Given the description of an element on the screen output the (x, y) to click on. 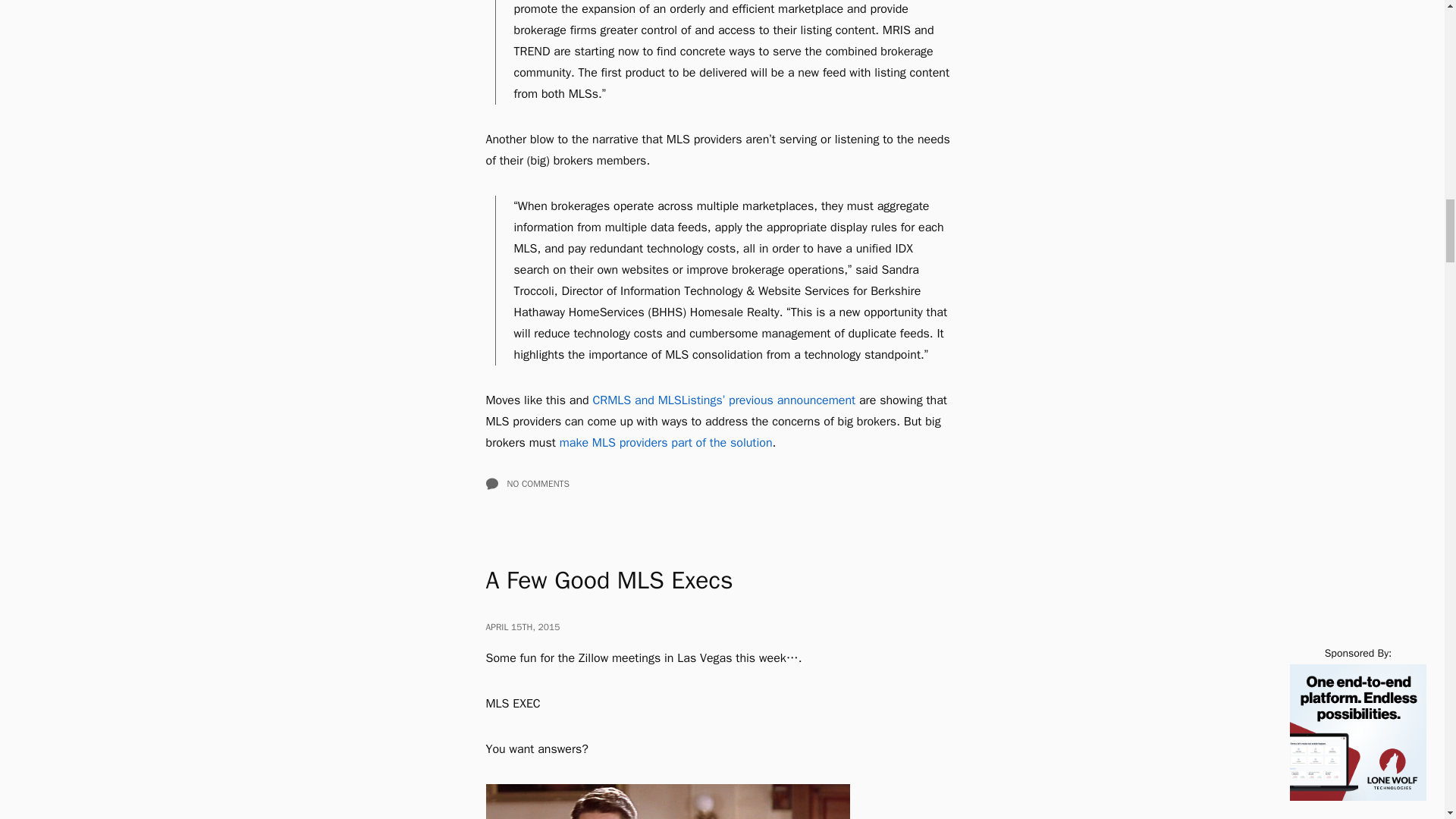
make MLS providers part of the solution (666, 442)
NO COMMENTS (721, 483)
A Few Good MLS Execs (608, 580)
